Given the description of an element on the screen output the (x, y) to click on. 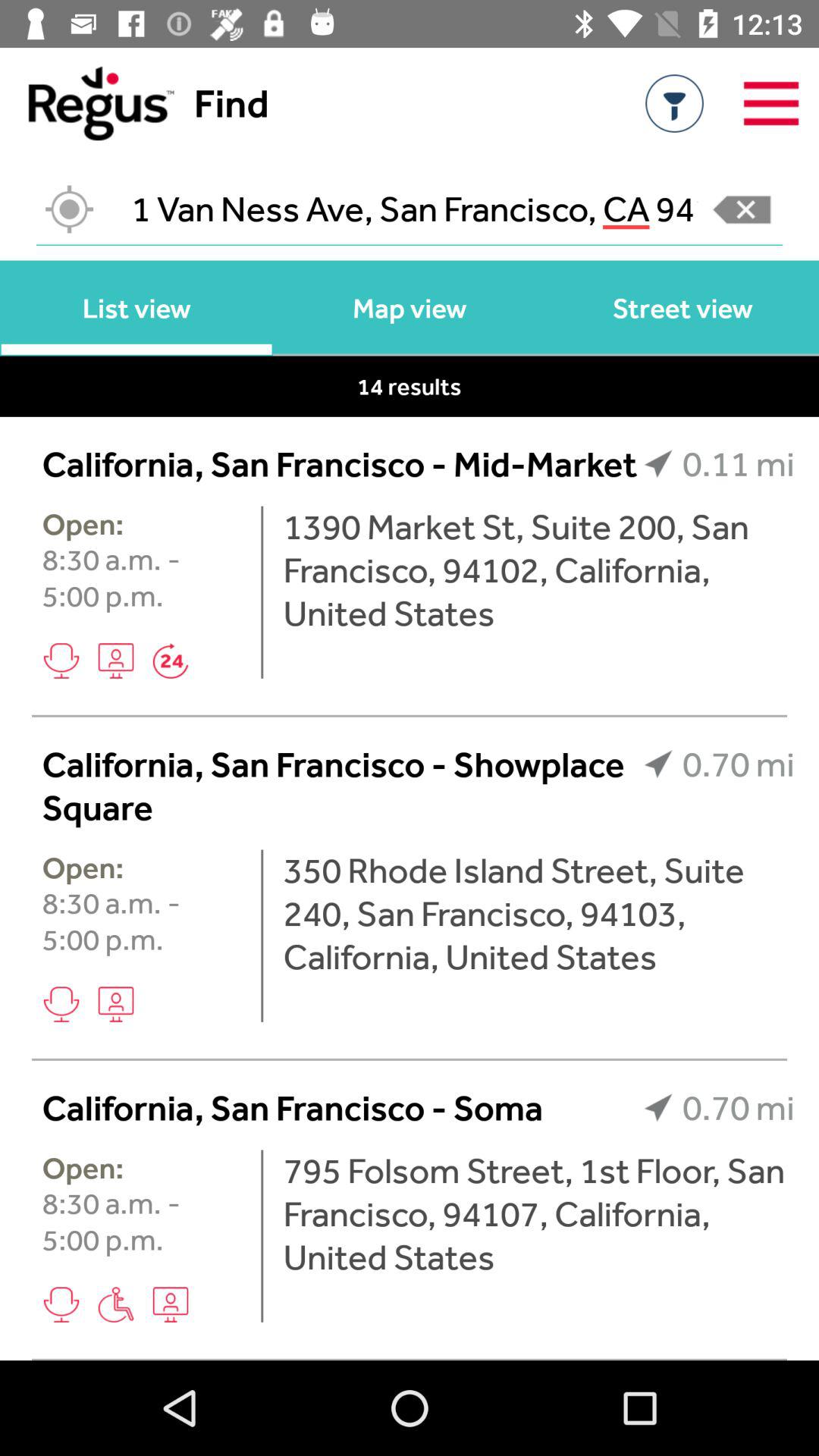
click the item next to the find (87, 103)
